Given the description of an element on the screen output the (x, y) to click on. 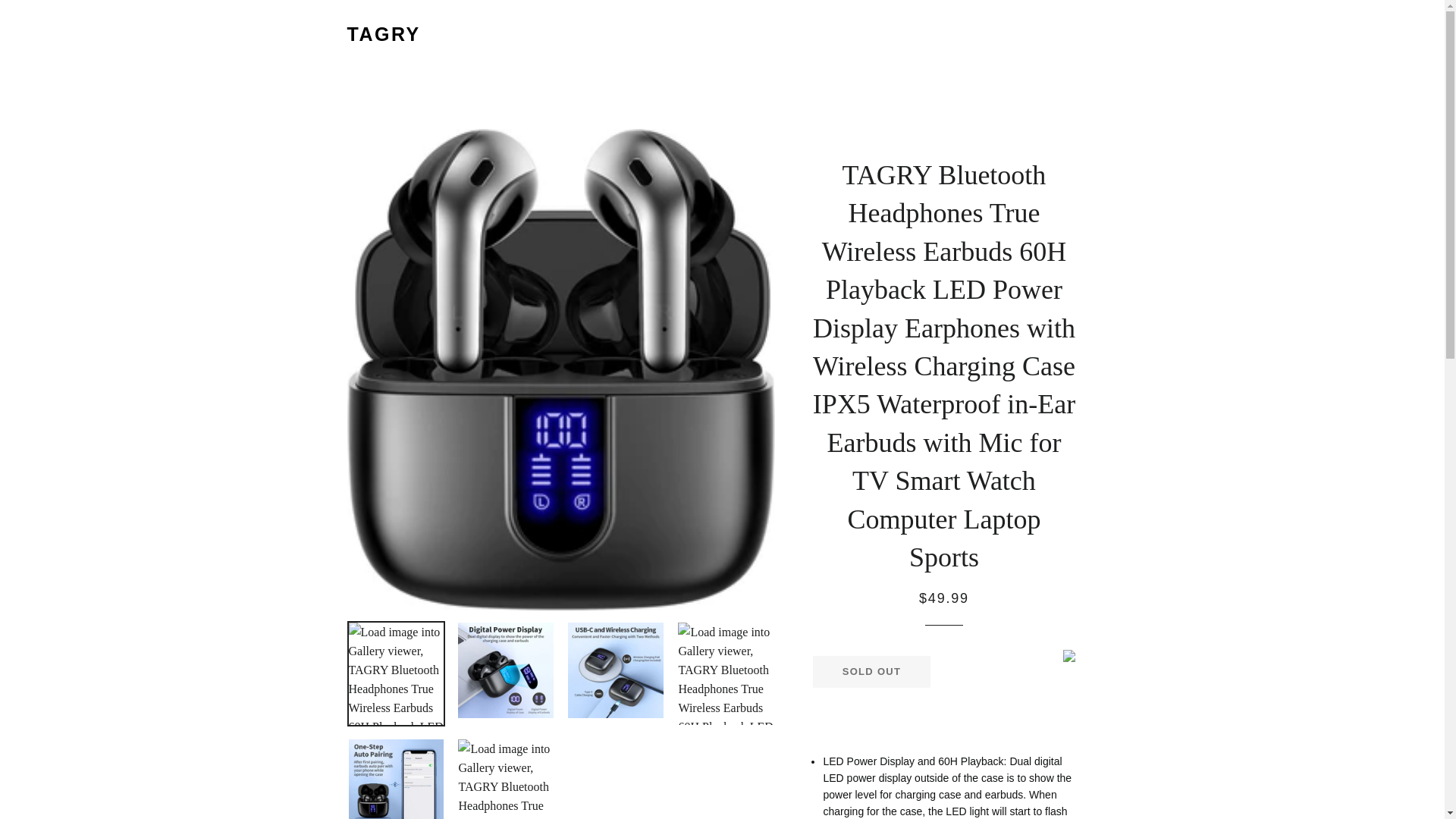
TAGRY (383, 34)
SOLD OUT (871, 671)
